Given the description of an element on the screen output the (x, y) to click on. 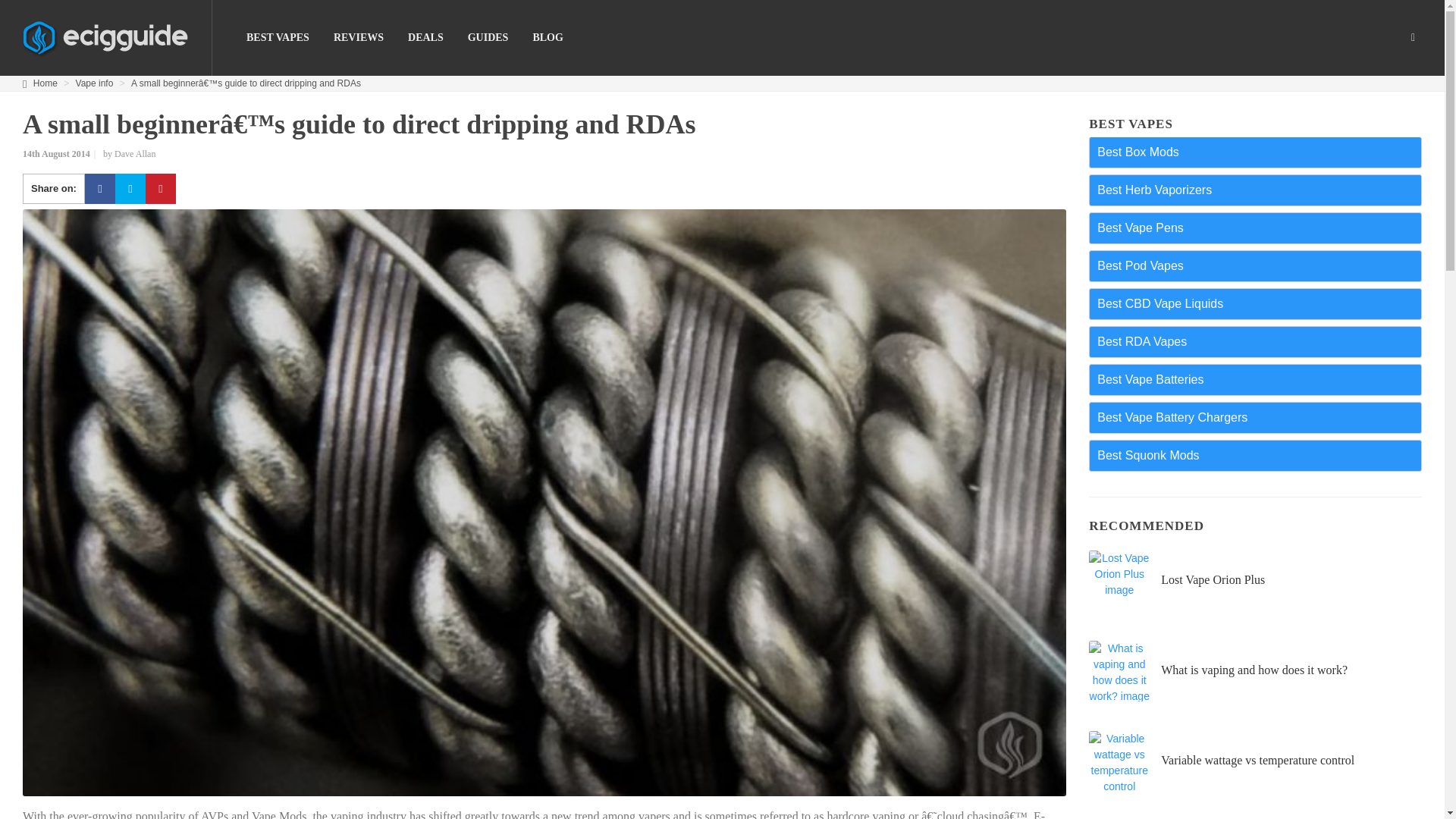
Best Pod Vapes (1255, 265)
REVIEWS (357, 37)
Home (45, 82)
Best Box Mods (1255, 151)
Best Herb Vaporizers (1255, 189)
Vape info (94, 82)
GUIDES (488, 37)
Best Squonk Mods (1255, 454)
BLOG (547, 37)
Best RDA Vapes (1255, 340)
